Given the description of an element on the screen output the (x, y) to click on. 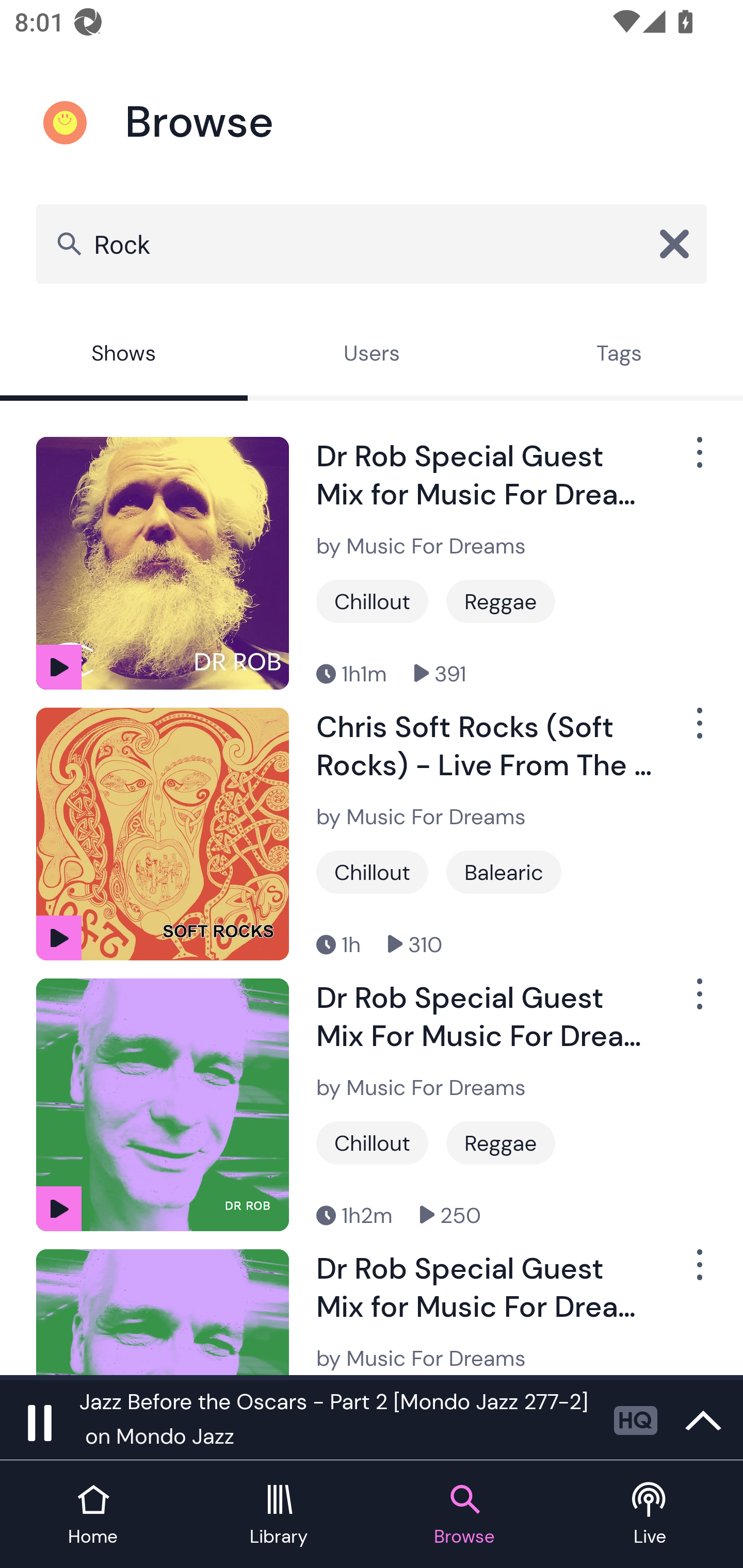
Rock (371, 243)
Shows (123, 355)
Users (371, 355)
Tags (619, 355)
Show Options Menu Button (697, 460)
Chillout (371, 601)
Reggae (500, 601)
Show Options Menu Button (697, 730)
Chillout (371, 871)
Balearic (503, 871)
Show Options Menu Button (697, 1001)
Chillout (371, 1143)
Reggae (500, 1143)
Show Options Menu Button (697, 1272)
Home tab Home (92, 1515)
Library tab Library (278, 1515)
Browse tab Browse (464, 1515)
Live tab Live (650, 1515)
